Given the description of an element on the screen output the (x, y) to click on. 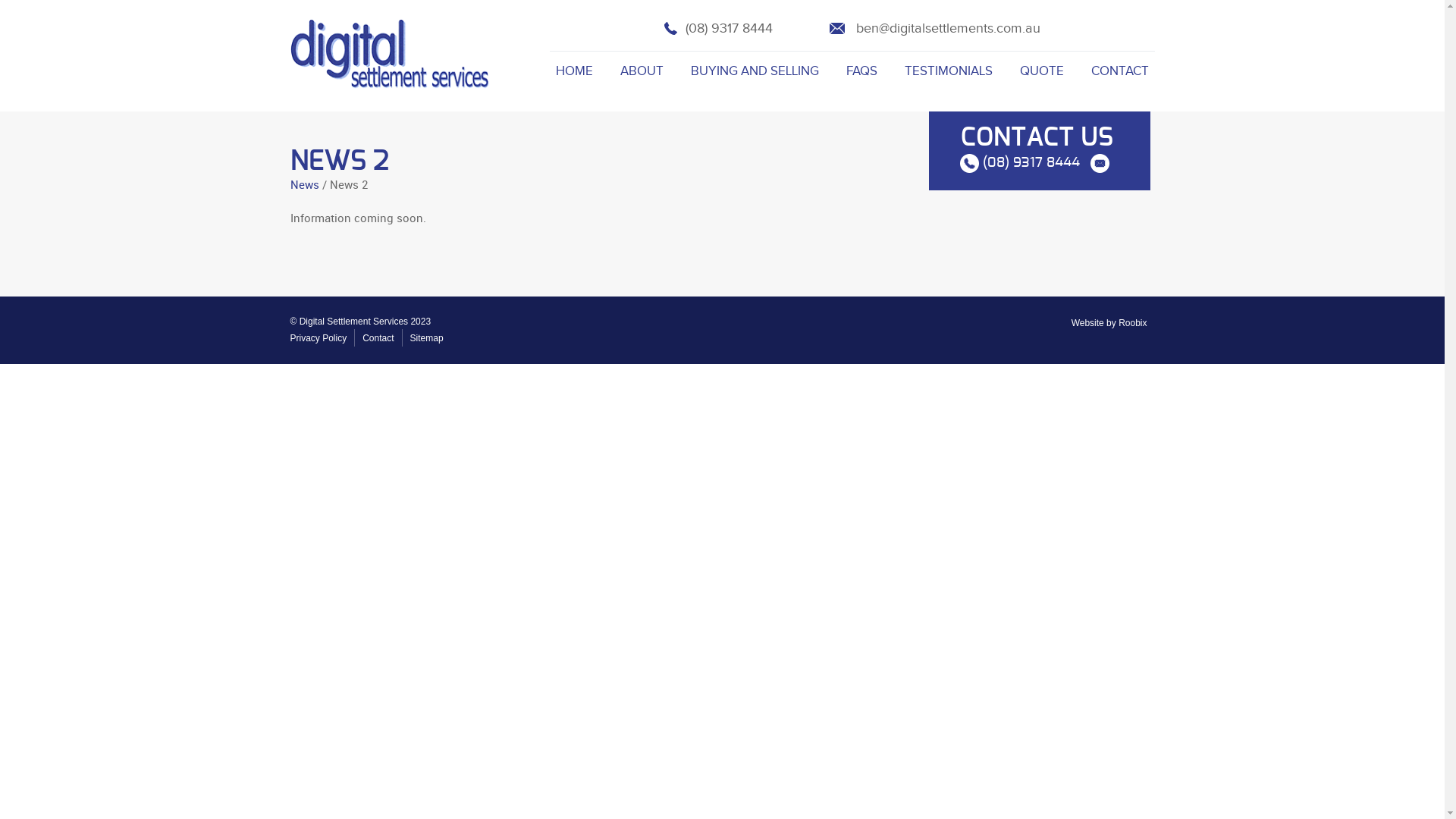
(08) 9317 8444 Element type: text (718, 28)
ABOUT Element type: text (641, 71)
Roobix Element type: text (1132, 322)
Digital Settlement Services Element type: hover (389, 53)
(08) 9317 8444 Element type: text (1019, 162)
BUYING AND SELLING Element type: text (754, 71)
ben@digitalsettlements.com.au Element type: text (934, 28)
CONTACT US Element type: text (1036, 137)
Privacy Policy Element type: text (317, 337)
CONTACT Element type: text (1119, 71)
Contact Element type: text (377, 337)
HOME Element type: text (573, 71)
Sitemap Element type: text (426, 337)
QUOTE Element type: text (1041, 71)
News Element type: text (303, 185)
FAQS Element type: text (861, 71)
TESTIMONIALS Element type: text (947, 71)
